Given the description of an element on the screen output the (x, y) to click on. 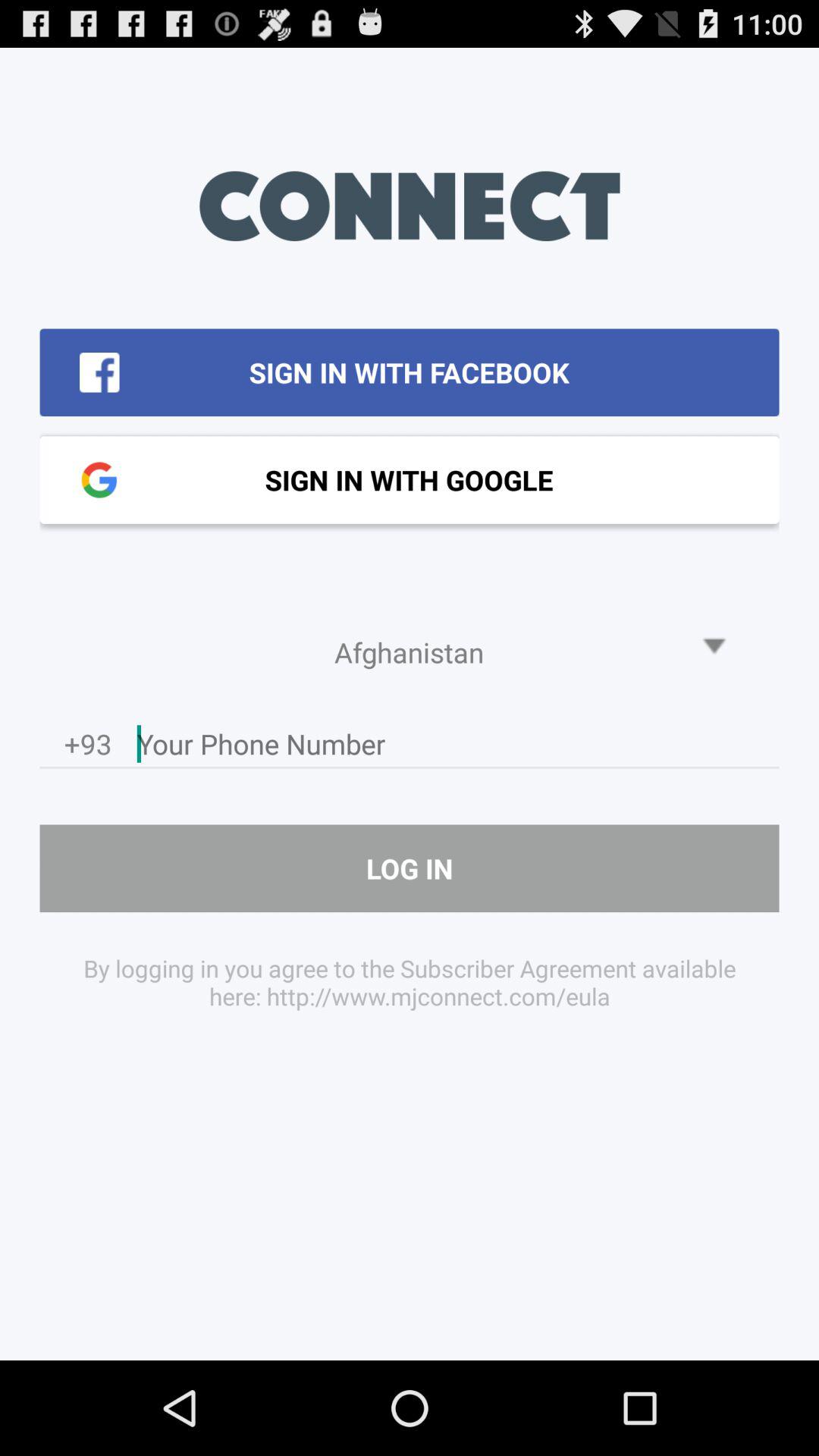
open the icon below afghanistan item (458, 747)
